Given the description of an element on the screen output the (x, y) to click on. 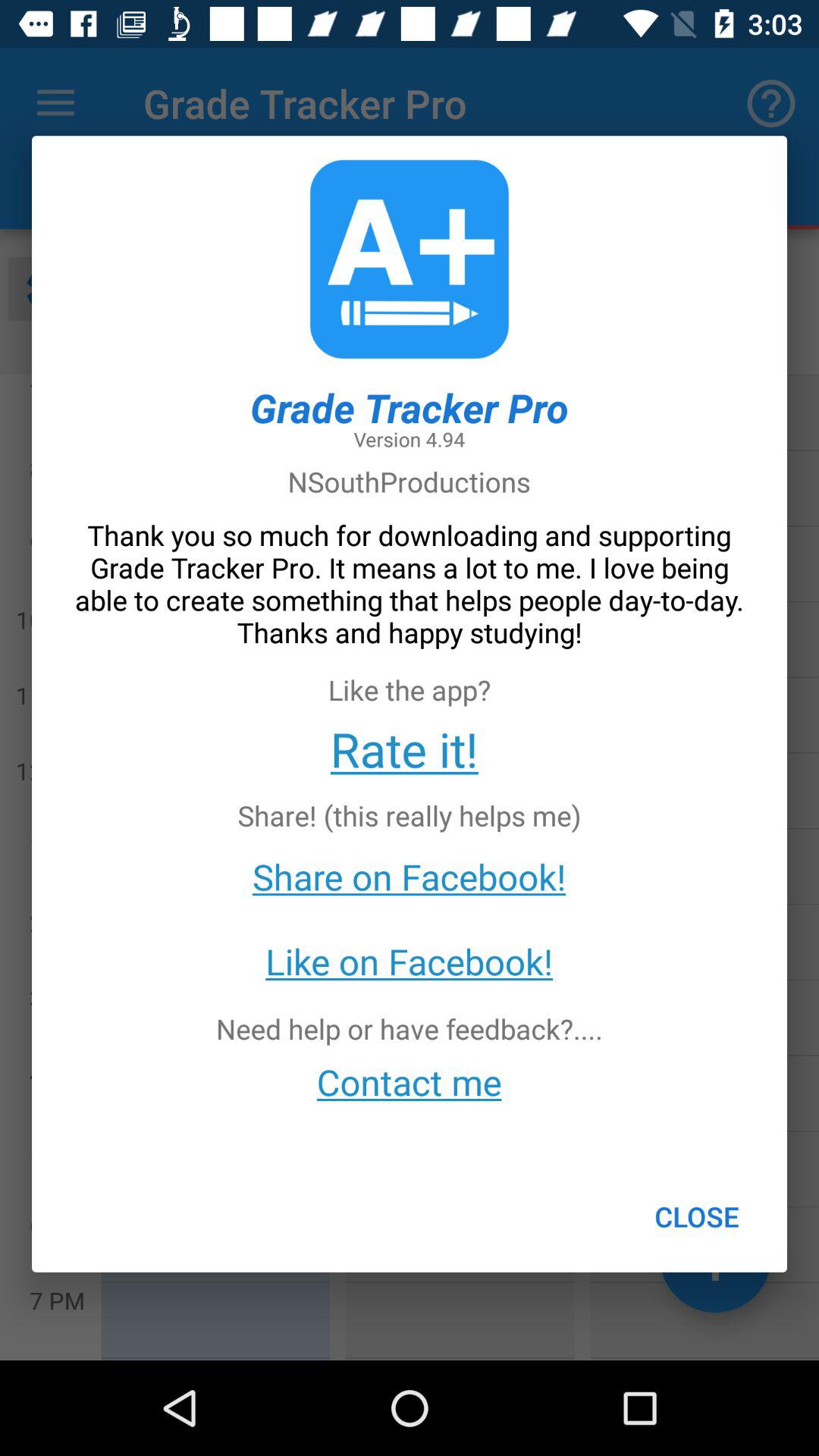
jump to the rate it! icon (403, 748)
